Given the description of an element on the screen output the (x, y) to click on. 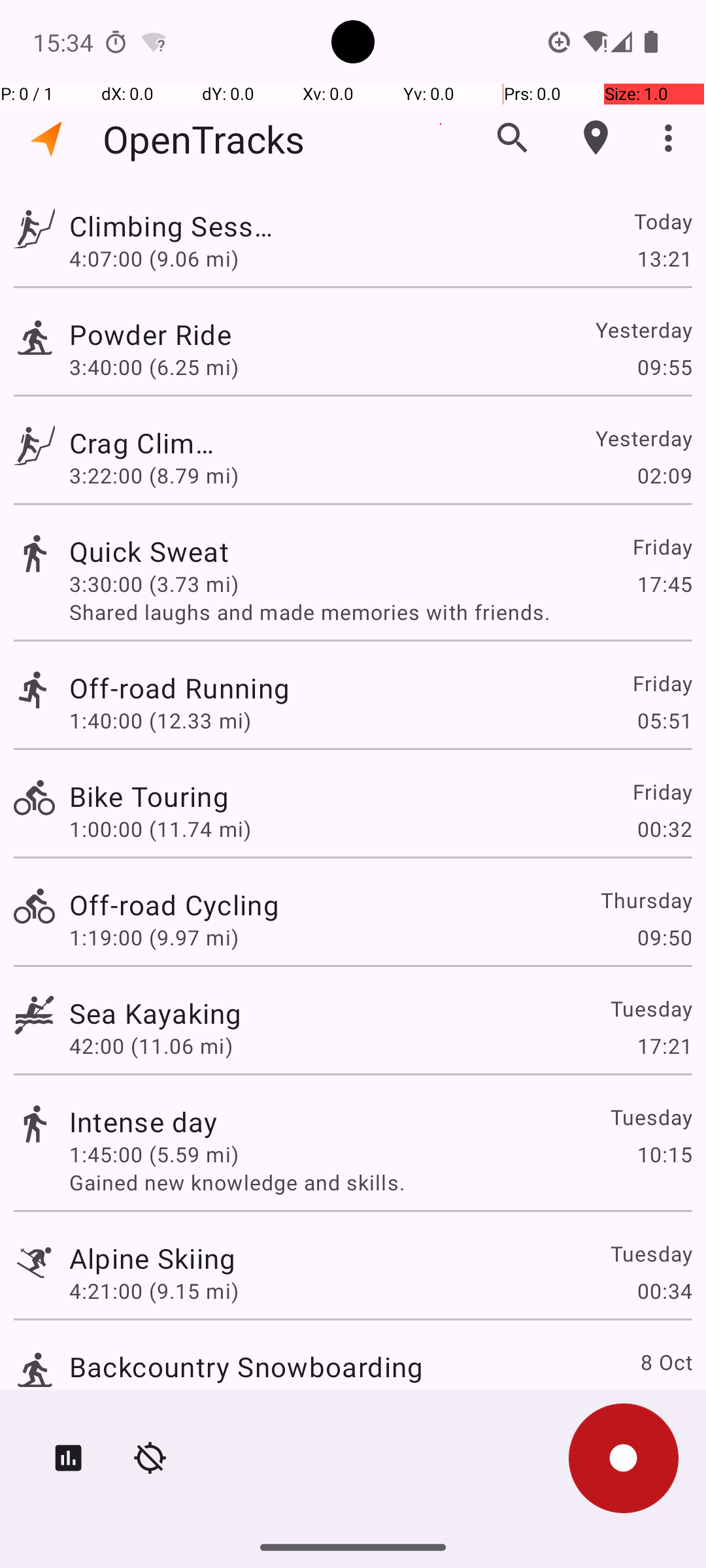
Climbing Session Element type: android.widget.TextView (173, 225)
4:07:00 (9.06 mi) Element type: android.widget.TextView (153, 258)
13:21 Element type: android.widget.TextView (664, 258)
Powder Ride Element type: android.widget.TextView (155, 333)
3:40:00 (6.25 mi) Element type: android.widget.TextView (153, 366)
09:55 Element type: android.widget.TextView (664, 366)
Crag Climbing Element type: android.widget.TextView (143, 442)
3:22:00 (8.79 mi) Element type: android.widget.TextView (153, 475)
02:09 Element type: android.widget.TextView (664, 475)
Quick Sweat Element type: android.widget.TextView (152, 550)
3:30:00 (3.73 mi) Element type: android.widget.TextView (153, 583)
17:45 Element type: android.widget.TextView (664, 583)
Shared laughs and made memories with friends. Element type: android.widget.TextView (380, 611)
Off-road Running Element type: android.widget.TextView (246, 687)
1:40:00 (12.33 mi) Element type: android.widget.TextView (159, 720)
05:51 Element type: android.widget.TextView (664, 720)
Bike Touring Element type: android.widget.TextView (148, 795)
1:00:00 (11.74 mi) Element type: android.widget.TextView (159, 828)
00:32 Element type: android.widget.TextView (664, 828)
Off-road Cycling Element type: android.widget.TextView (173, 904)
1:19:00 (9.97 mi) Element type: android.widget.TextView (153, 937)
09:50 Element type: android.widget.TextView (664, 937)
Sea Kayaking Element type: android.widget.TextView (155, 1012)
42:00 (11.06 mi) Element type: android.widget.TextView (150, 1045)
17:21 Element type: android.widget.TextView (664, 1045)
Intense day Element type: android.widget.TextView (143, 1121)
1:45:00 (5.59 mi) Element type: android.widget.TextView (153, 1154)
10:15 Element type: android.widget.TextView (664, 1154)
Gained new knowledge and skills. Element type: android.widget.TextView (380, 1182)
Alpine Skiing Element type: android.widget.TextView (152, 1257)
4:21:00 (9.15 mi) Element type: android.widget.TextView (153, 1290)
00:34 Element type: android.widget.TextView (664, 1290)
Backcountry Snowboarding Element type: android.widget.TextView (246, 1366)
2:26:00 (6.32 mi) Element type: android.widget.TextView (153, 1399)
12:16 Element type: android.widget.TextView (664, 1399)
